Given the description of an element on the screen output the (x, y) to click on. 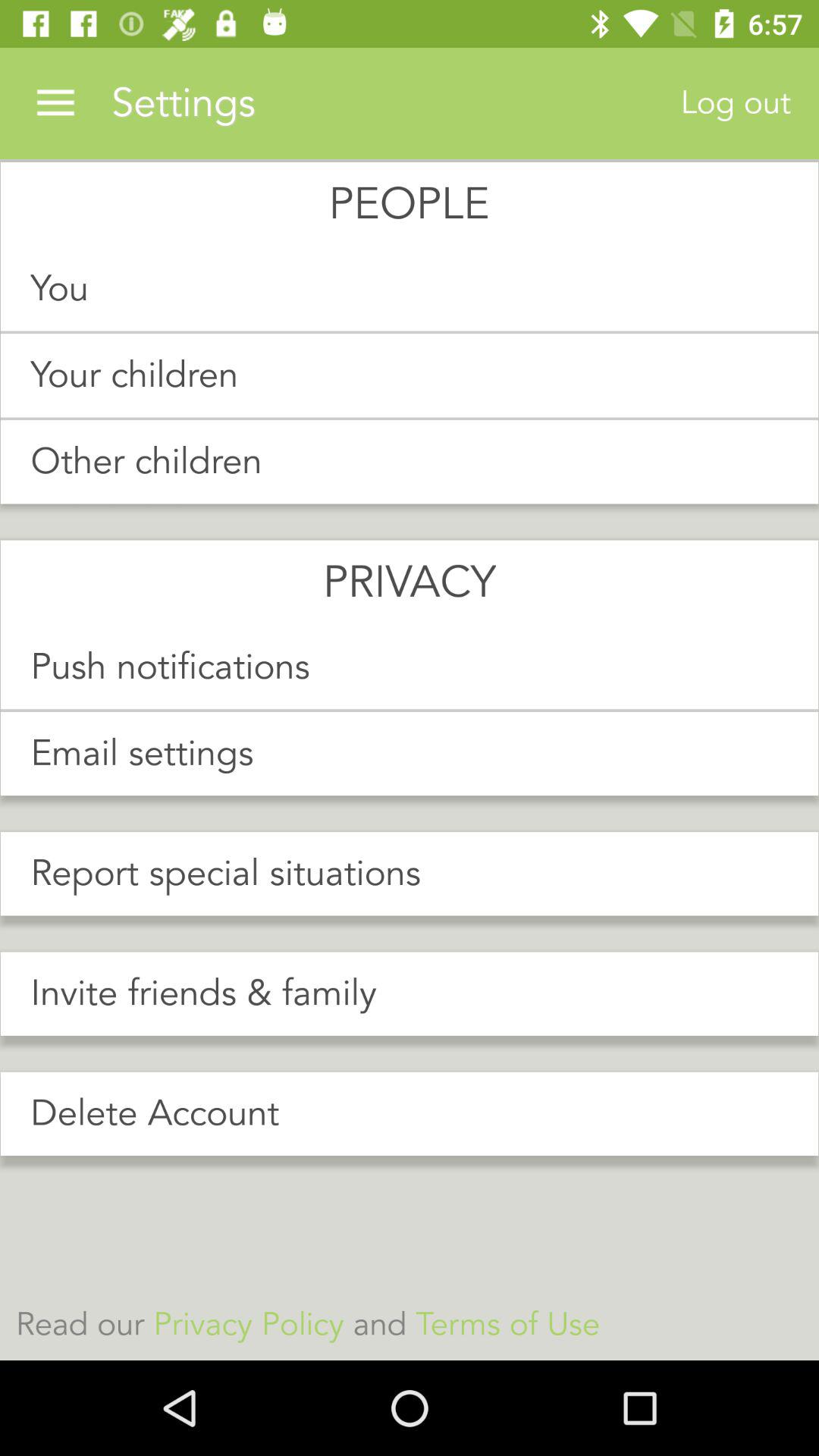
open the icon above the invite friends & family item (409, 873)
